Given the description of an element on the screen output the (x, y) to click on. 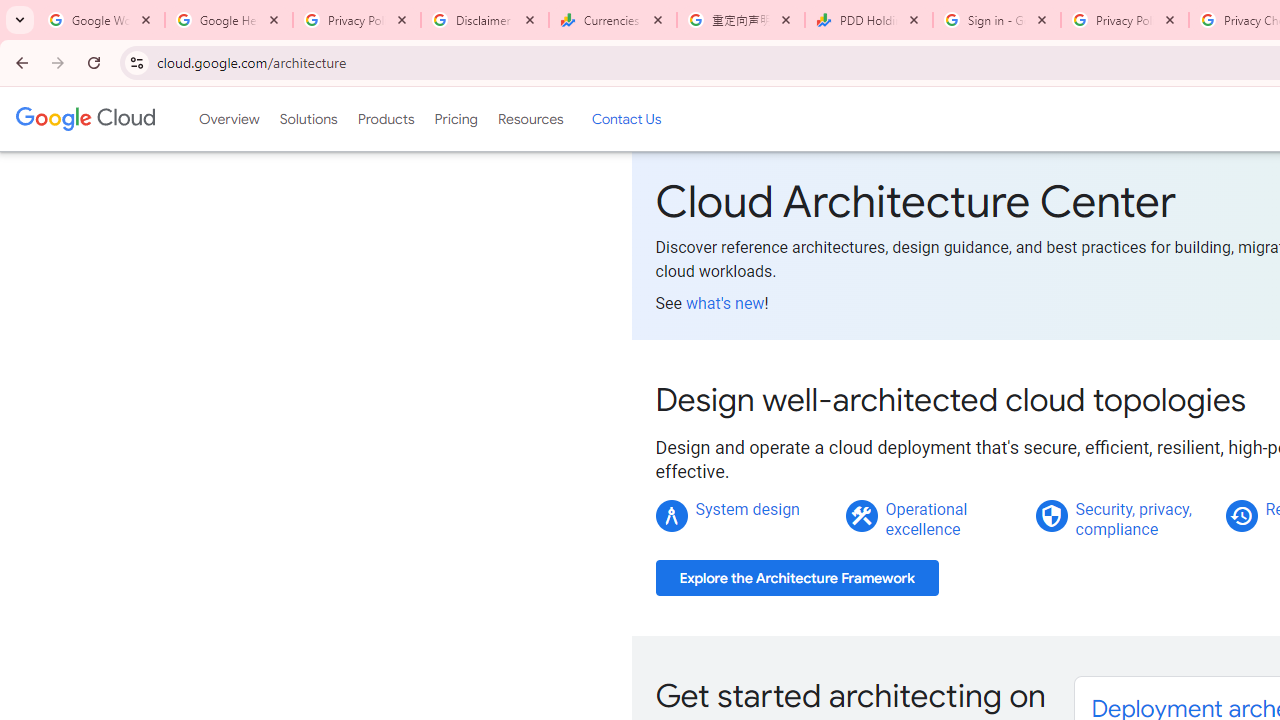
Pricing (455, 119)
